Given the description of an element on the screen output the (x, y) to click on. 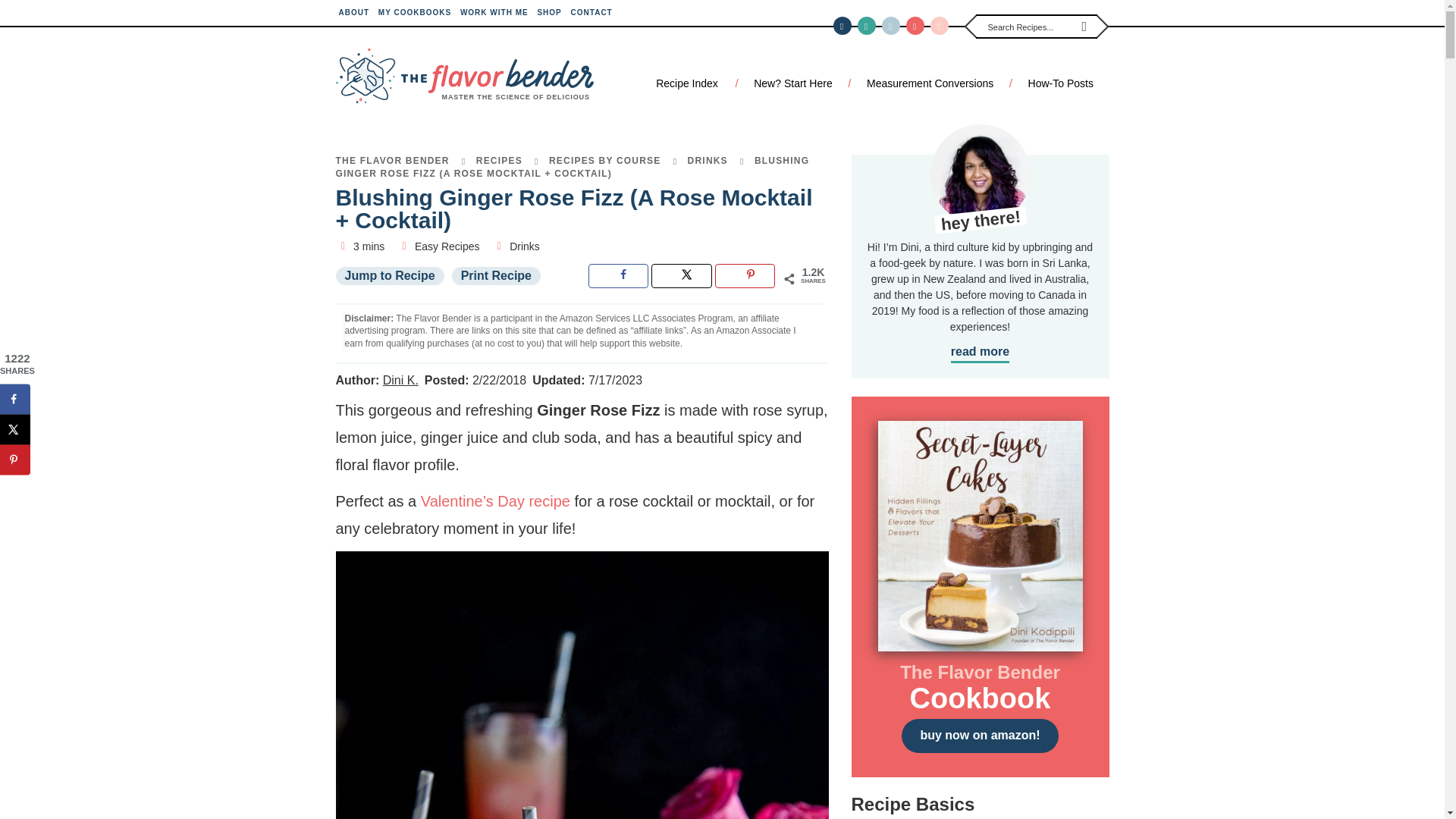
CONTACT (591, 12)
Search (1077, 26)
SHOP (549, 12)
Share on X (15, 429)
Search (1077, 26)
Share on Facebook (15, 399)
The Flavor Bender (463, 75)
Search (1077, 26)
WORK WITH ME (494, 12)
Share on Facebook (617, 275)
